Given the description of an element on the screen output the (x, y) to click on. 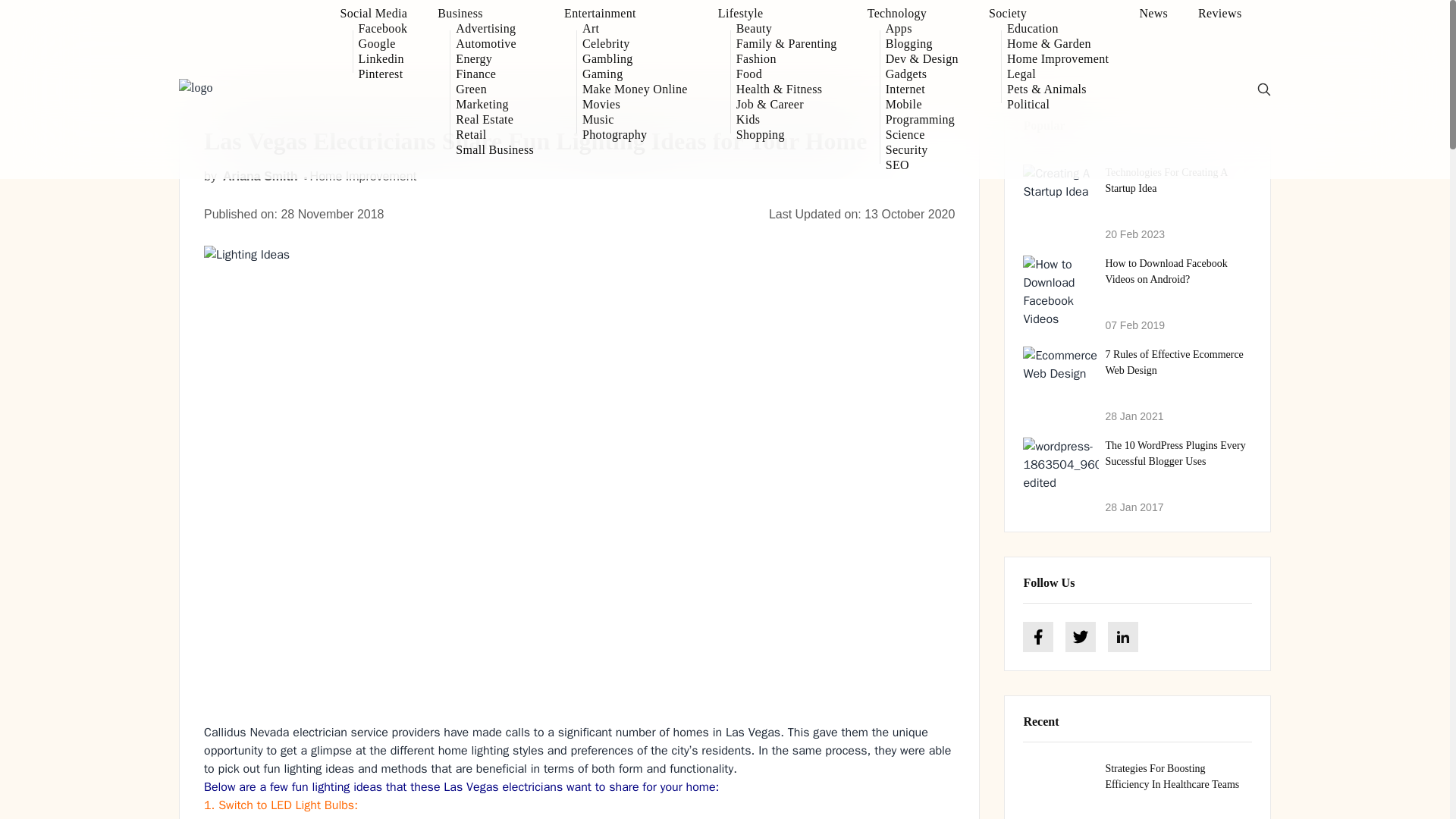
Movies (634, 104)
Gambling (634, 58)
Green (494, 89)
Photography (634, 134)
Apps (921, 28)
Facebook (382, 28)
Linkedin (382, 58)
Google (382, 43)
Entertainment (625, 13)
Shopping (786, 134)
